Given the description of an element on the screen output the (x, y) to click on. 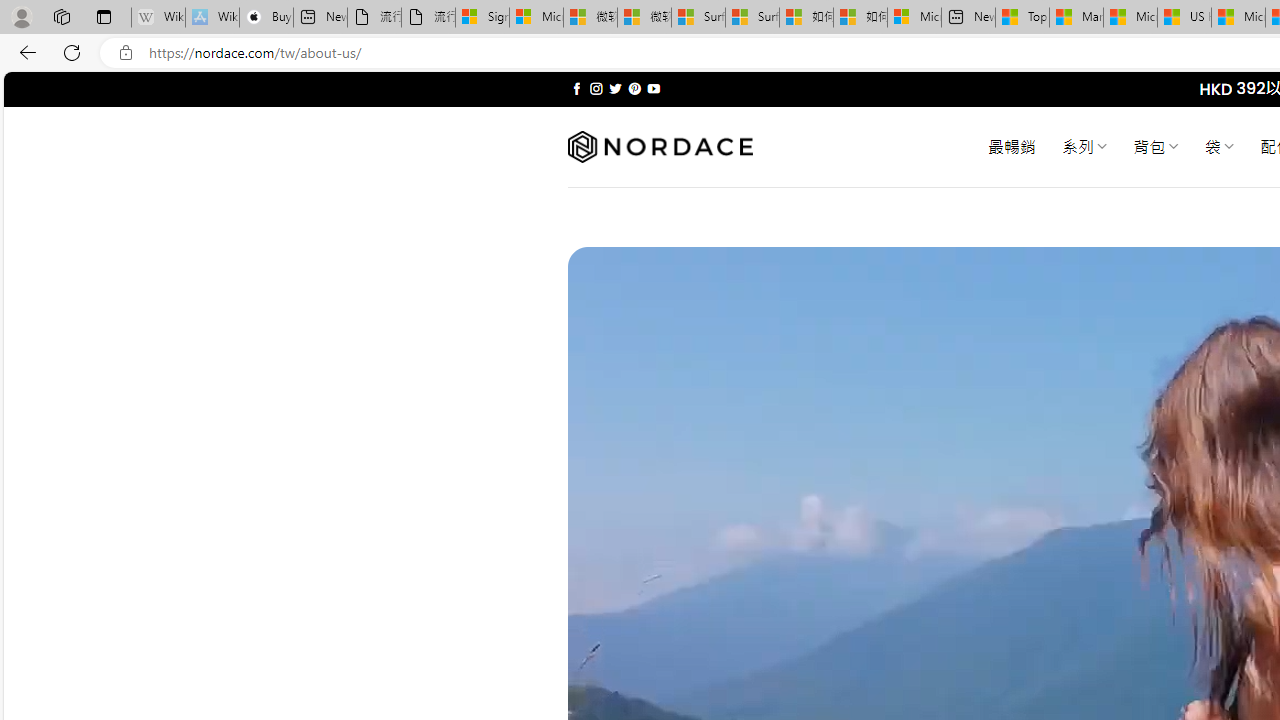
Follow on Facebook (576, 88)
Follow on Pinterest (634, 88)
